Given the description of an element on the screen output the (x, y) to click on. 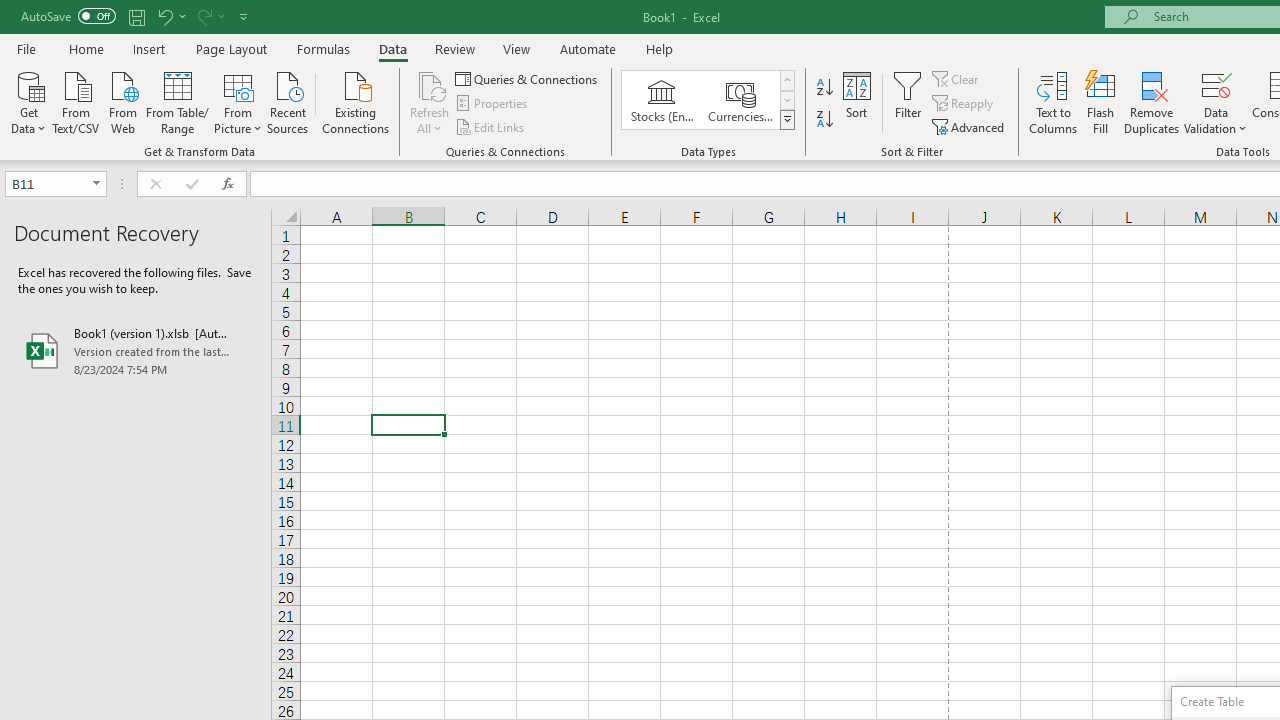
Data Types (786, 120)
Text to Columns... (1053, 102)
Sort Z to A (824, 119)
From Picture (238, 101)
